Given the description of an element on the screen output the (x, y) to click on. 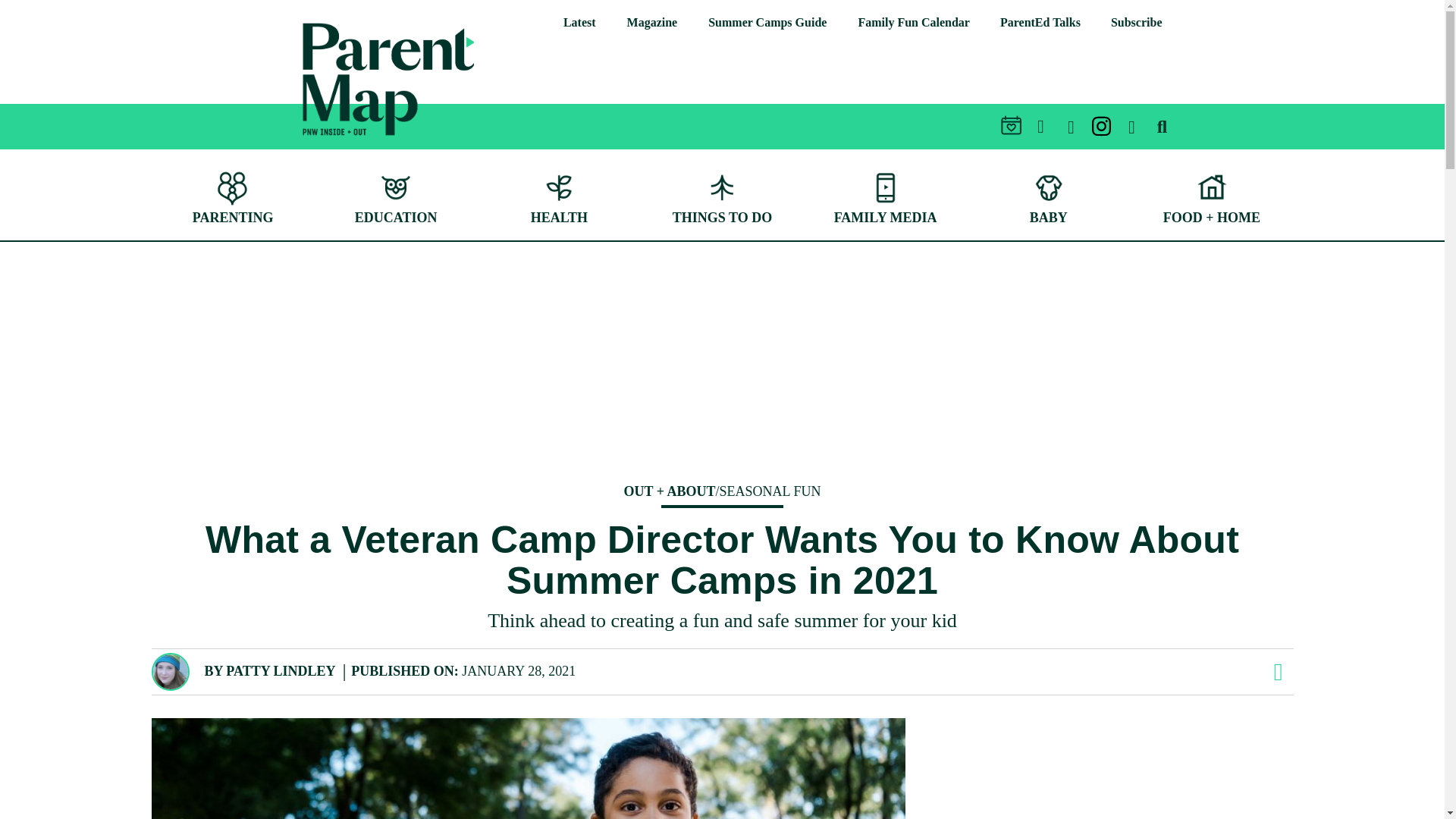
3rd party ad content (1109, 768)
Family Fun Calendar (913, 22)
ParentMap (312, 145)
Patty Lindley (279, 670)
Summer Camps Guide (767, 22)
Search (1405, 72)
Latest (579, 22)
Home (388, 78)
Leave a comment (1277, 671)
Subscribe (1136, 22)
